Given the description of an element on the screen output the (x, y) to click on. 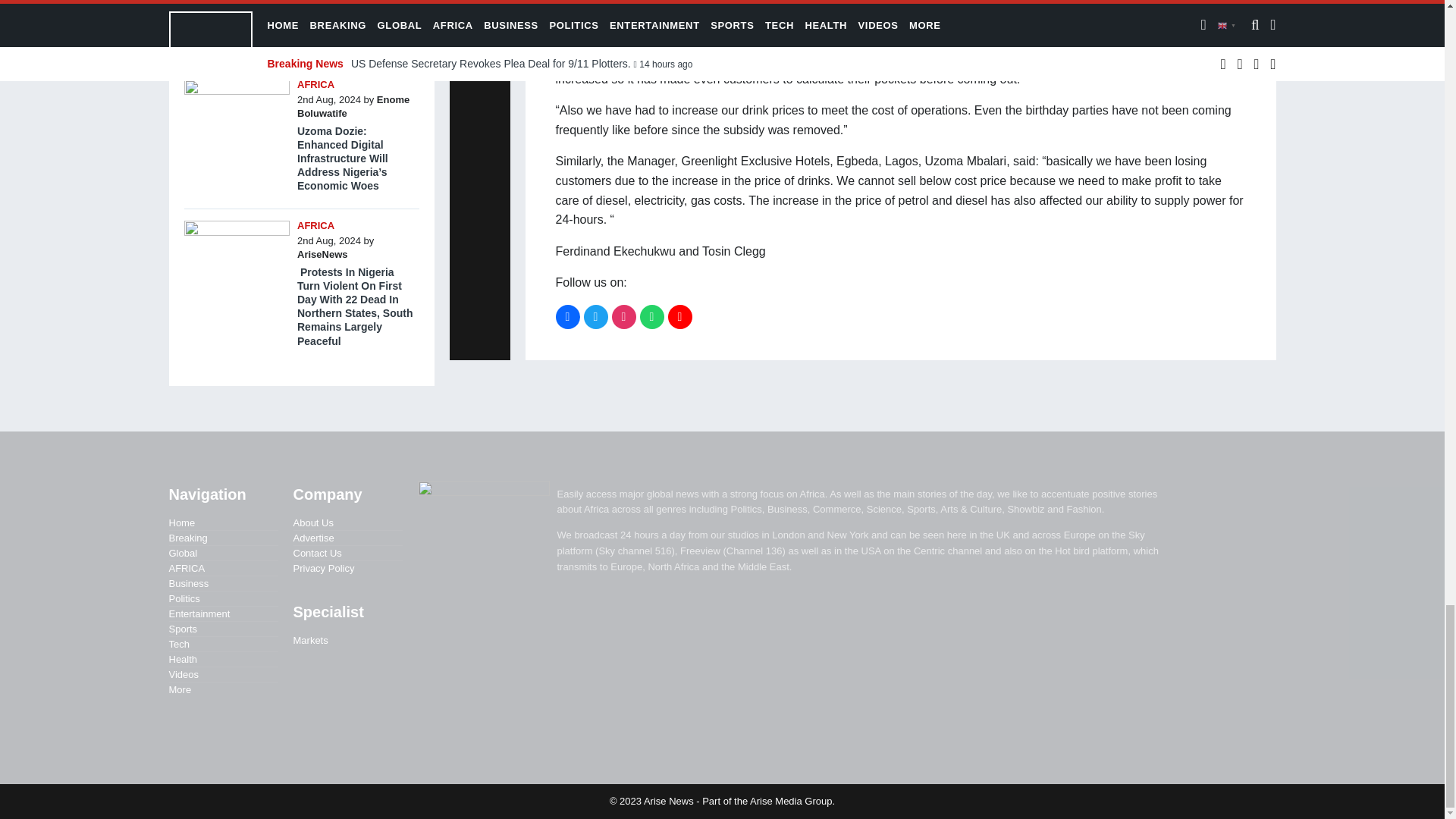
Facebook (566, 316)
Youtube (678, 316)
Instagram (622, 316)
Twitter (595, 316)
WhatsApp (651, 316)
